Given the description of an element on the screen output the (x, y) to click on. 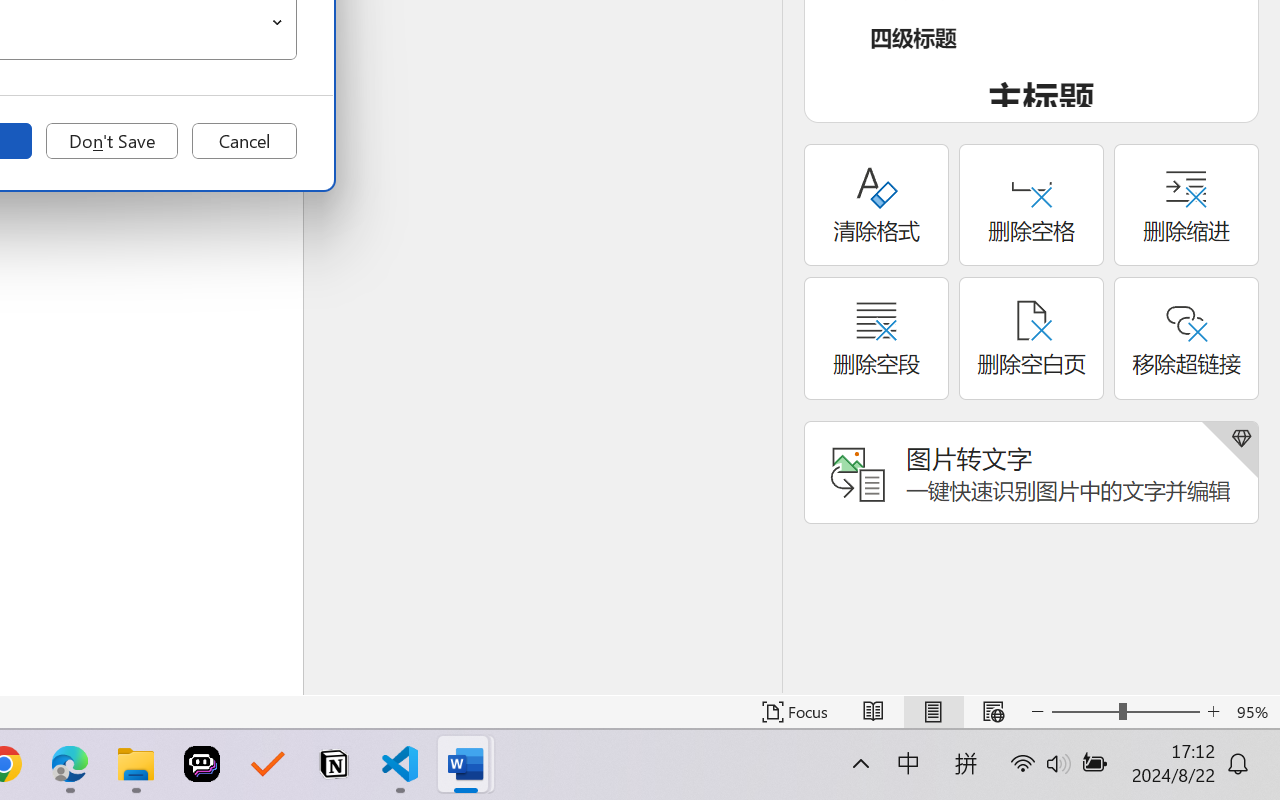
Zoom 95% (1253, 712)
